Given the description of an element on the screen output the (x, y) to click on. 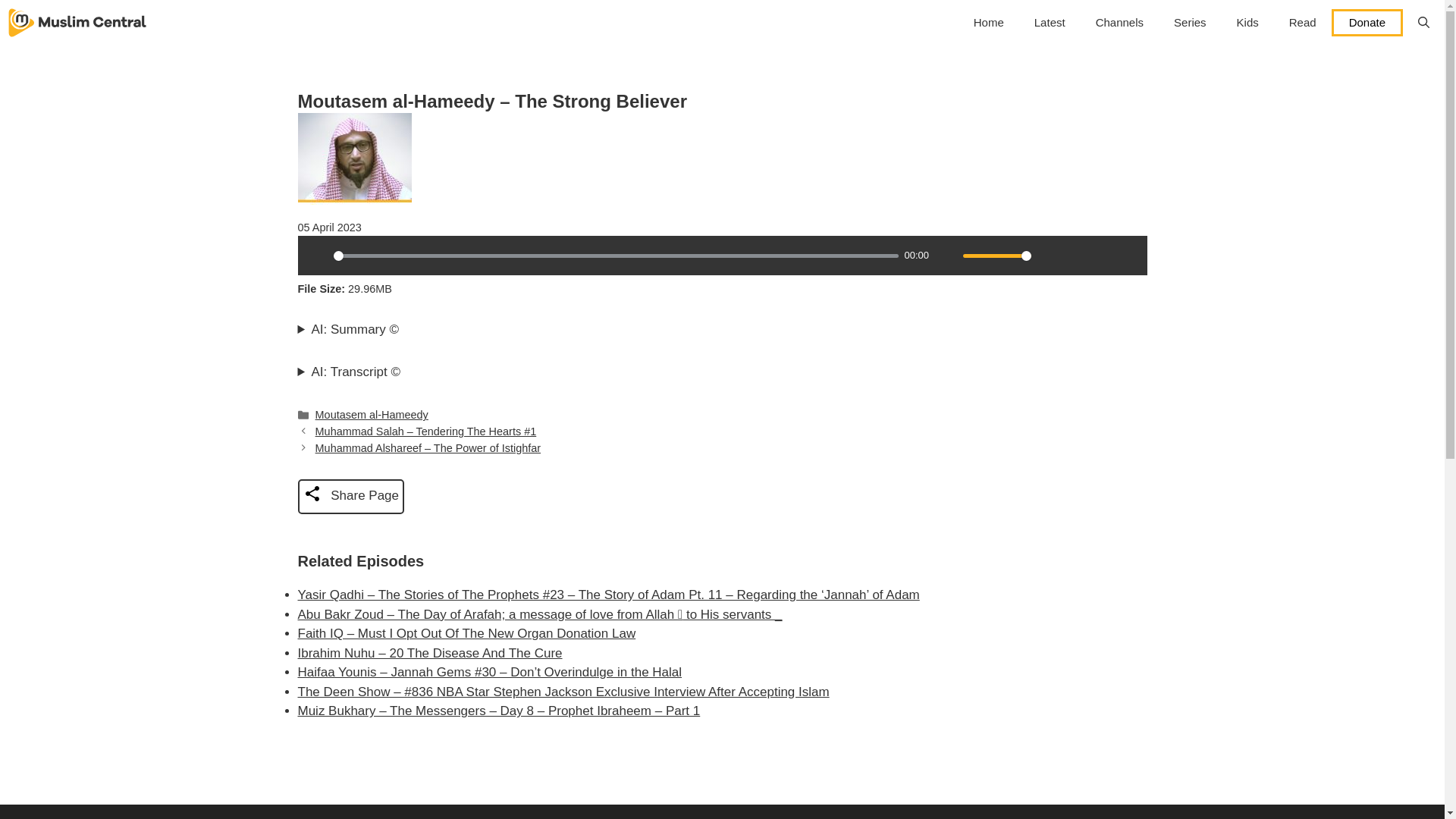
Read (1303, 22)
Channels (1119, 22)
Muslim Central (77, 22)
1 (996, 255)
Latest (1049, 22)
0 (615, 255)
Kids (1247, 22)
Rewind 10s (1101, 255)
Donate (1367, 22)
Play (316, 255)
Moutasem al-Hameedy (371, 414)
Series (1189, 22)
Forward 10s (1126, 255)
Home (988, 22)
Settings (1048, 255)
